Given the description of an element on the screen output the (x, y) to click on. 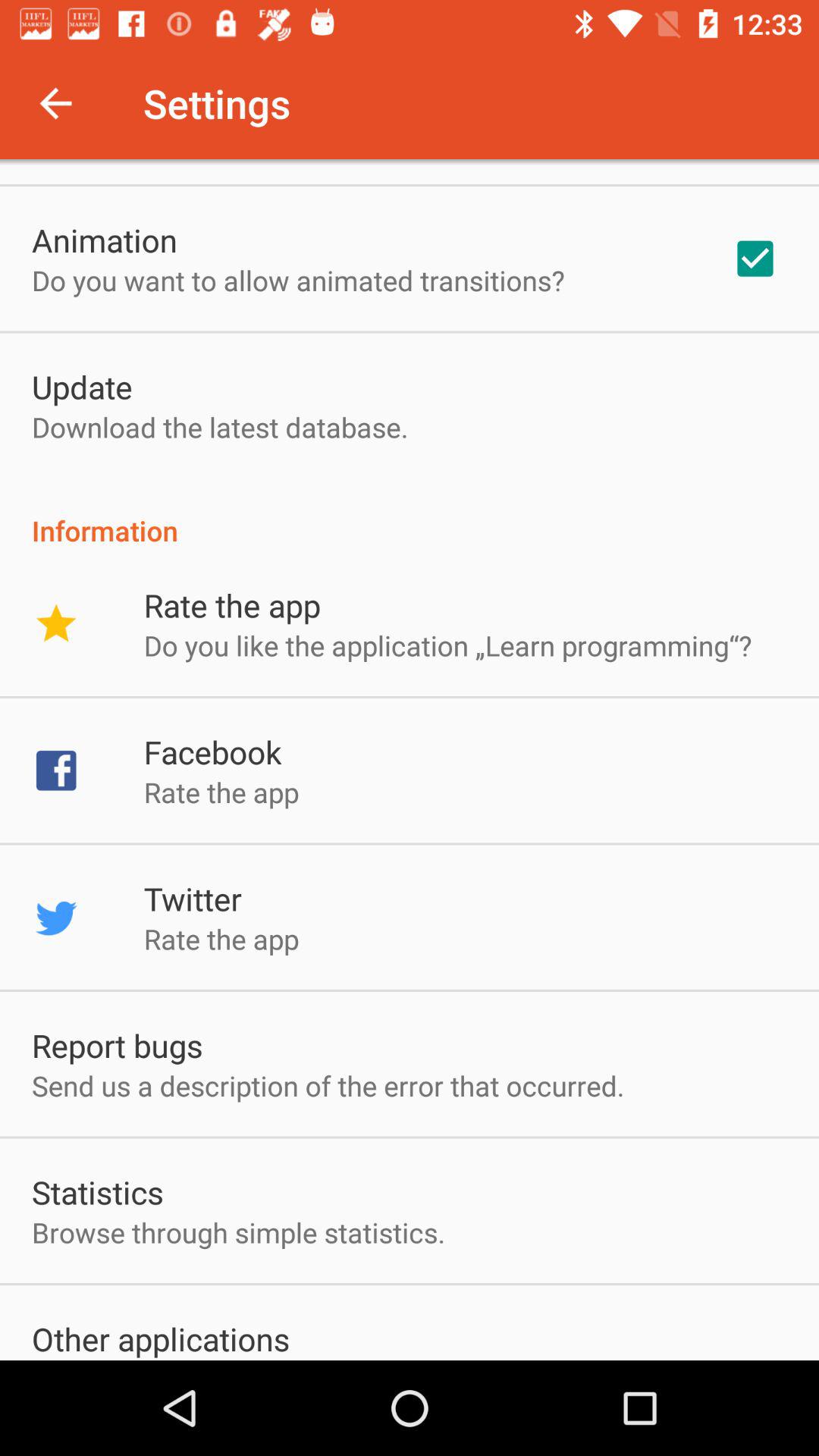
launch item next to the do you want icon (755, 258)
